Given the description of an element on the screen output the (x, y) to click on. 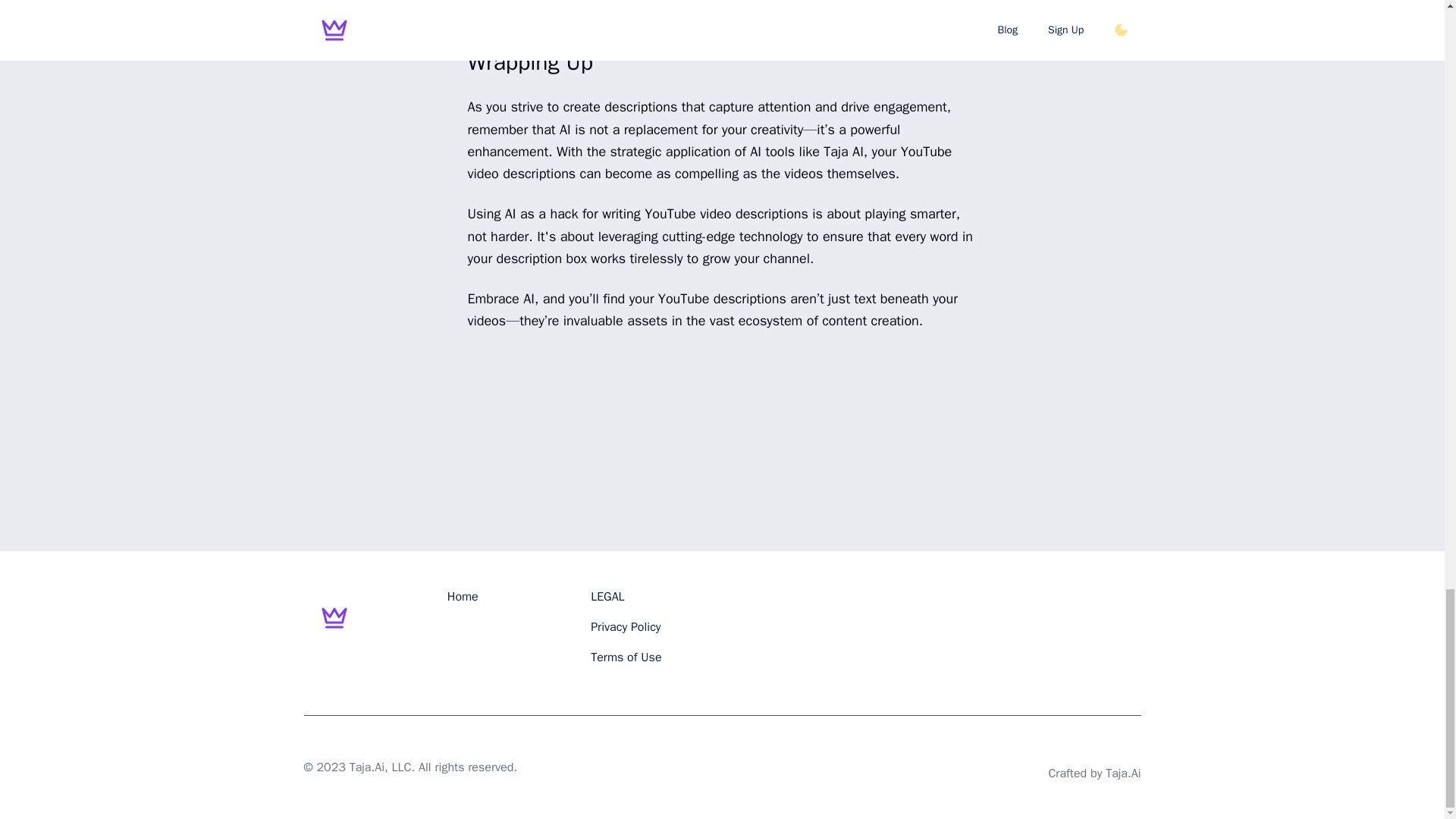
Privacy Policy (626, 626)
Home (462, 595)
Terms of Use (626, 656)
